Given the description of an element on the screen output the (x, y) to click on. 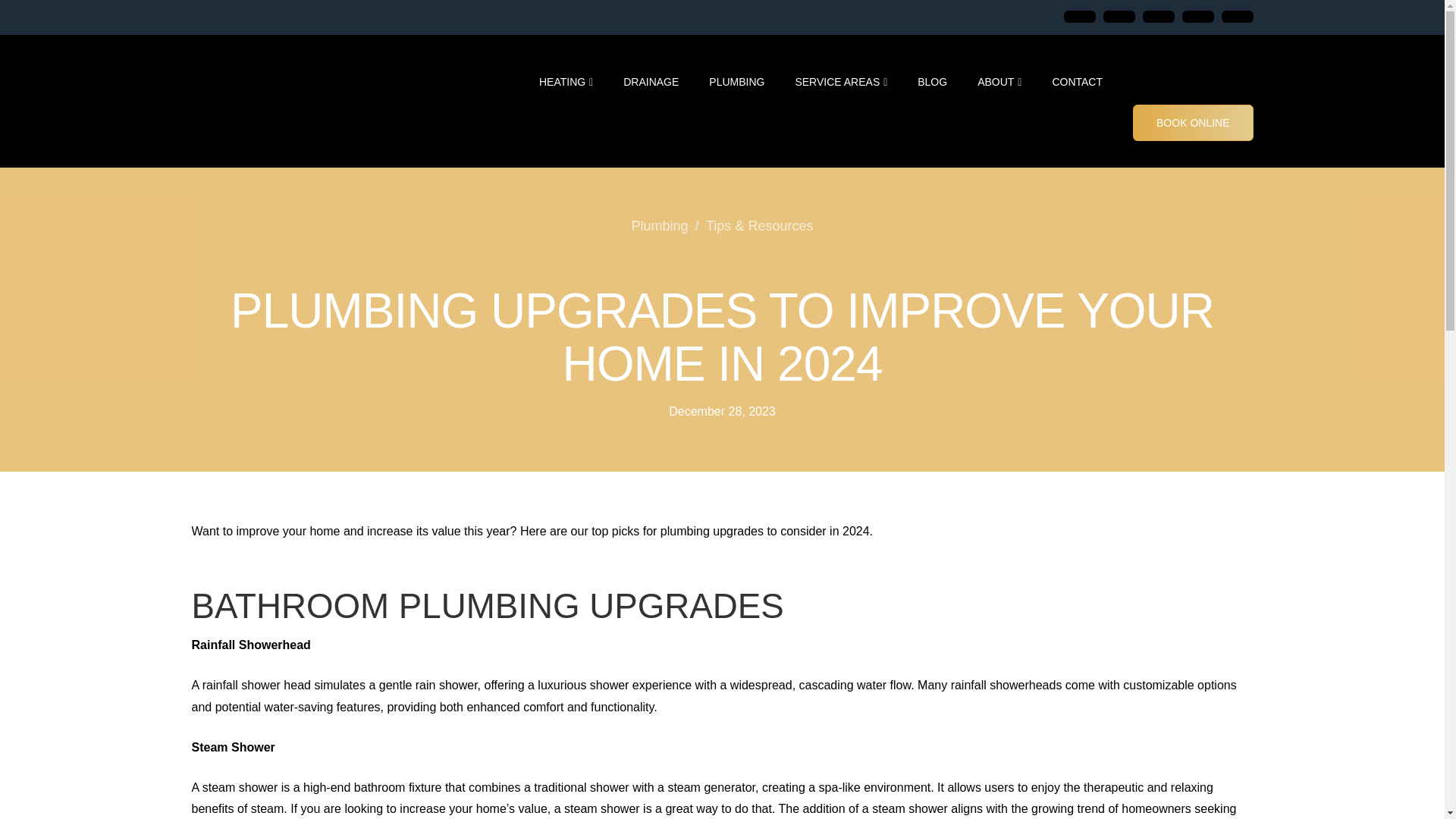
BOOK ONLINE (1185, 121)
SERVICE AREAS (840, 121)
CONTACT (1077, 121)
HEATING (566, 121)
PLUMBING (736, 121)
DRAINAGE (651, 121)
